Given the description of an element on the screen output the (x, y) to click on. 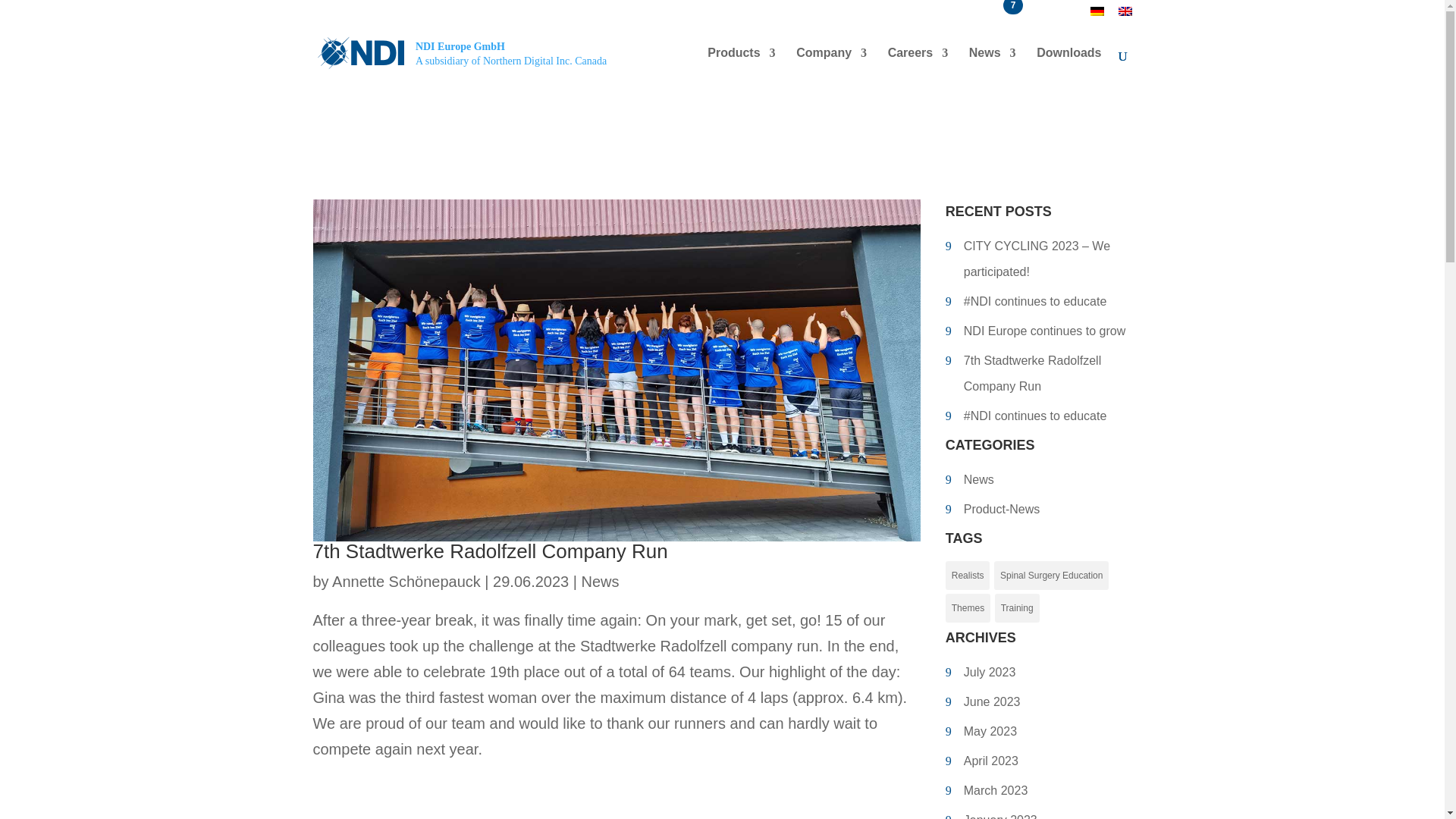
Training (1016, 607)
Contact (1056, 16)
Product-News (1038, 509)
Downloads (1068, 65)
Company (456, 51)
Spinal Surgery Education (831, 65)
Careers (1051, 575)
Themes (918, 65)
News (967, 607)
